Given the description of an element on the screen output the (x, y) to click on. 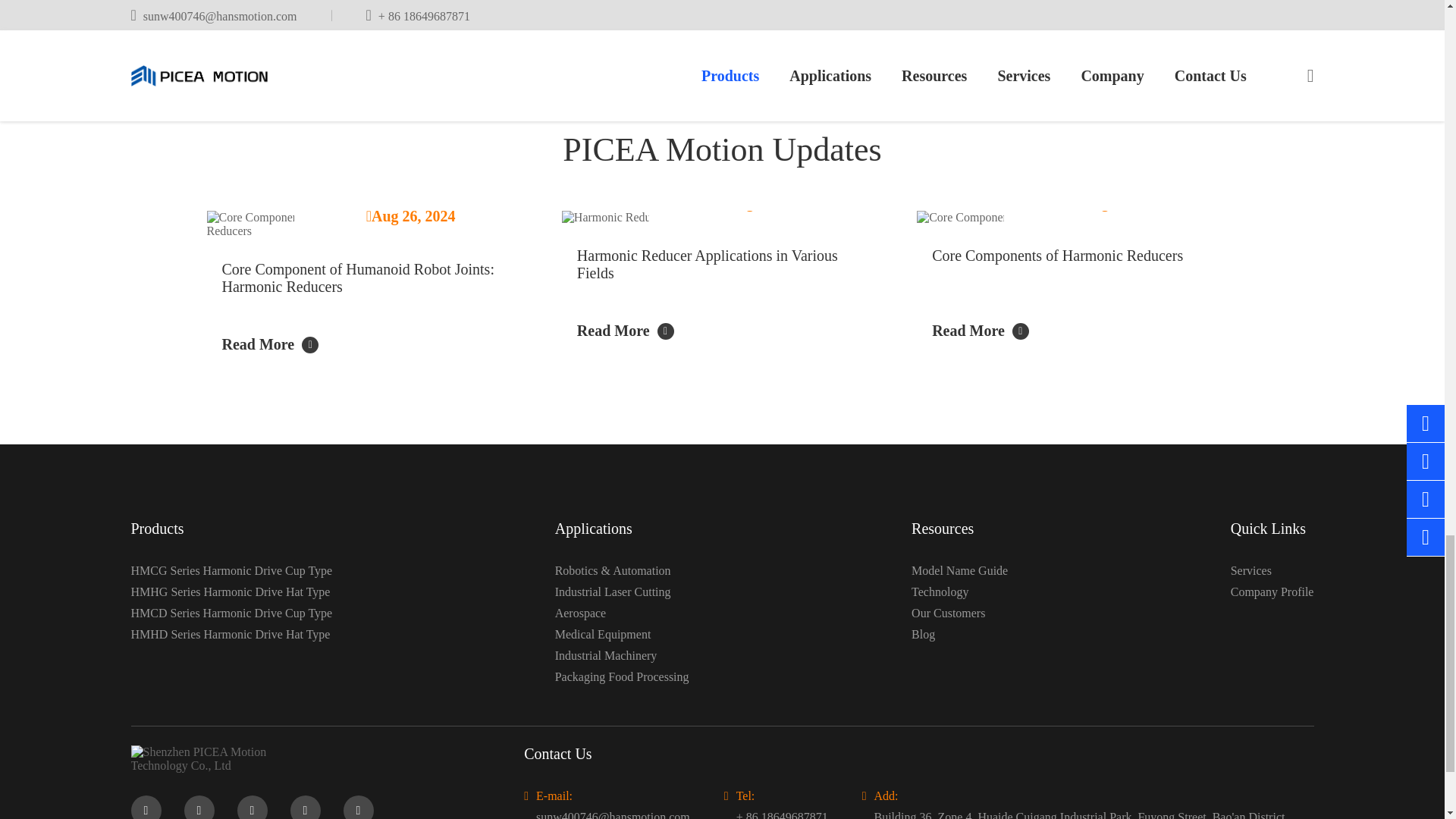
Core Components of Harmonic Reducers (1077, 217)
Shenzhen PICEA Motion Technology Co., Ltd (198, 759)
Harmonic Reducer Applications in Various Fields (722, 217)
Core Component of Humanoid Robot Joints: Harmonic Reducers (366, 224)
